Given the description of an element on the screen output the (x, y) to click on. 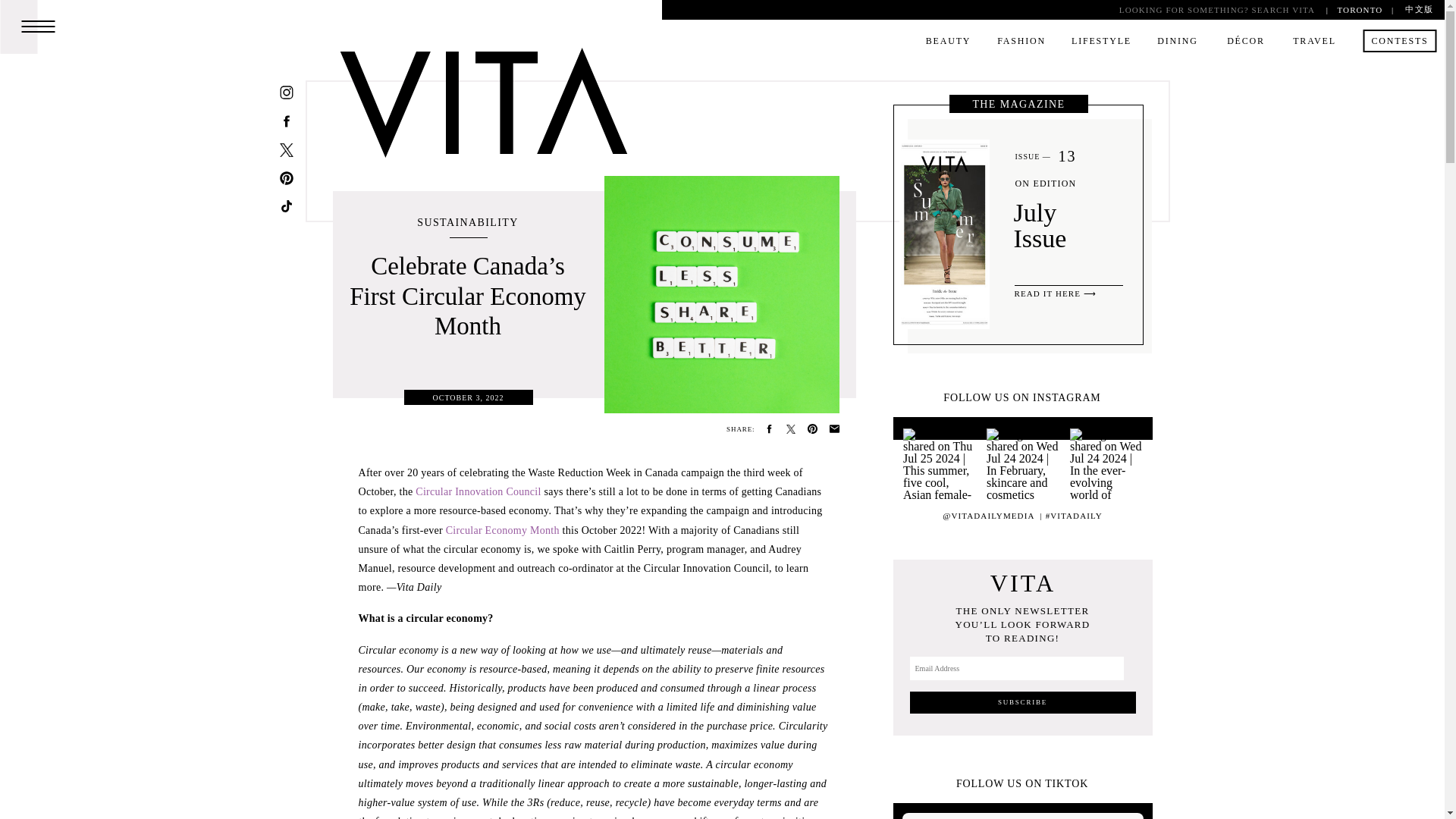
BEAUTY (947, 43)
TRAVEL (1314, 43)
DINING (1177, 43)
CONTESTS (1399, 43)
TORONTO (1358, 9)
LIFESTYLE (1101, 43)
Subscribe (1022, 702)
FASHION (1021, 43)
